Given the description of an element on the screen output the (x, y) to click on. 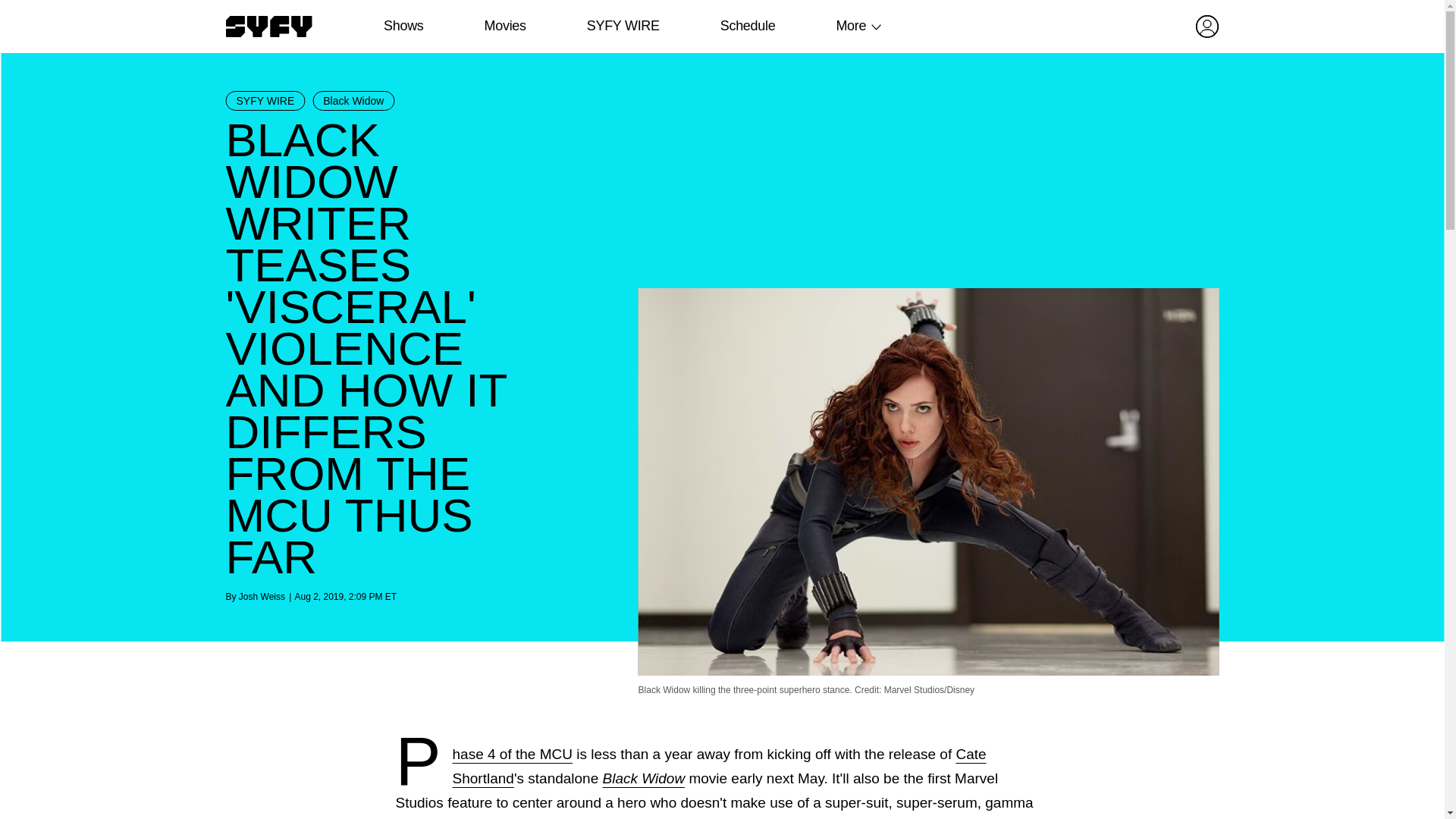
SYFY WIRE (622, 26)
Black Widow (643, 778)
Cate Shortland (719, 766)
Movies (504, 26)
Josh Weiss (261, 596)
Schedule (746, 26)
More (850, 26)
Shows (403, 26)
SYFY WIRE (265, 100)
